Given the description of an element on the screen output the (x, y) to click on. 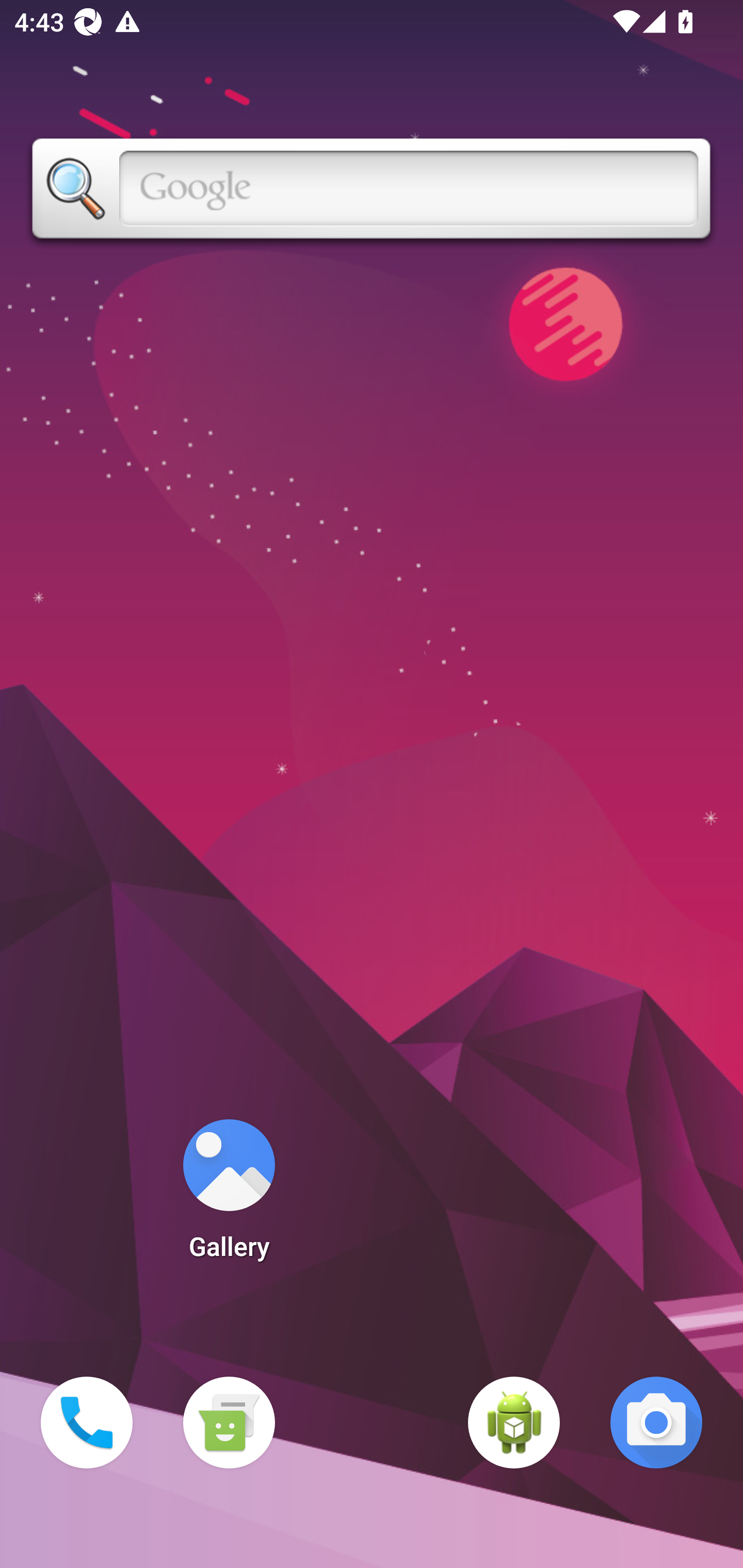
Gallery (228, 1195)
Phone (86, 1422)
Messaging (228, 1422)
WebView Browser Tester (513, 1422)
Camera (656, 1422)
